Given the description of an element on the screen output the (x, y) to click on. 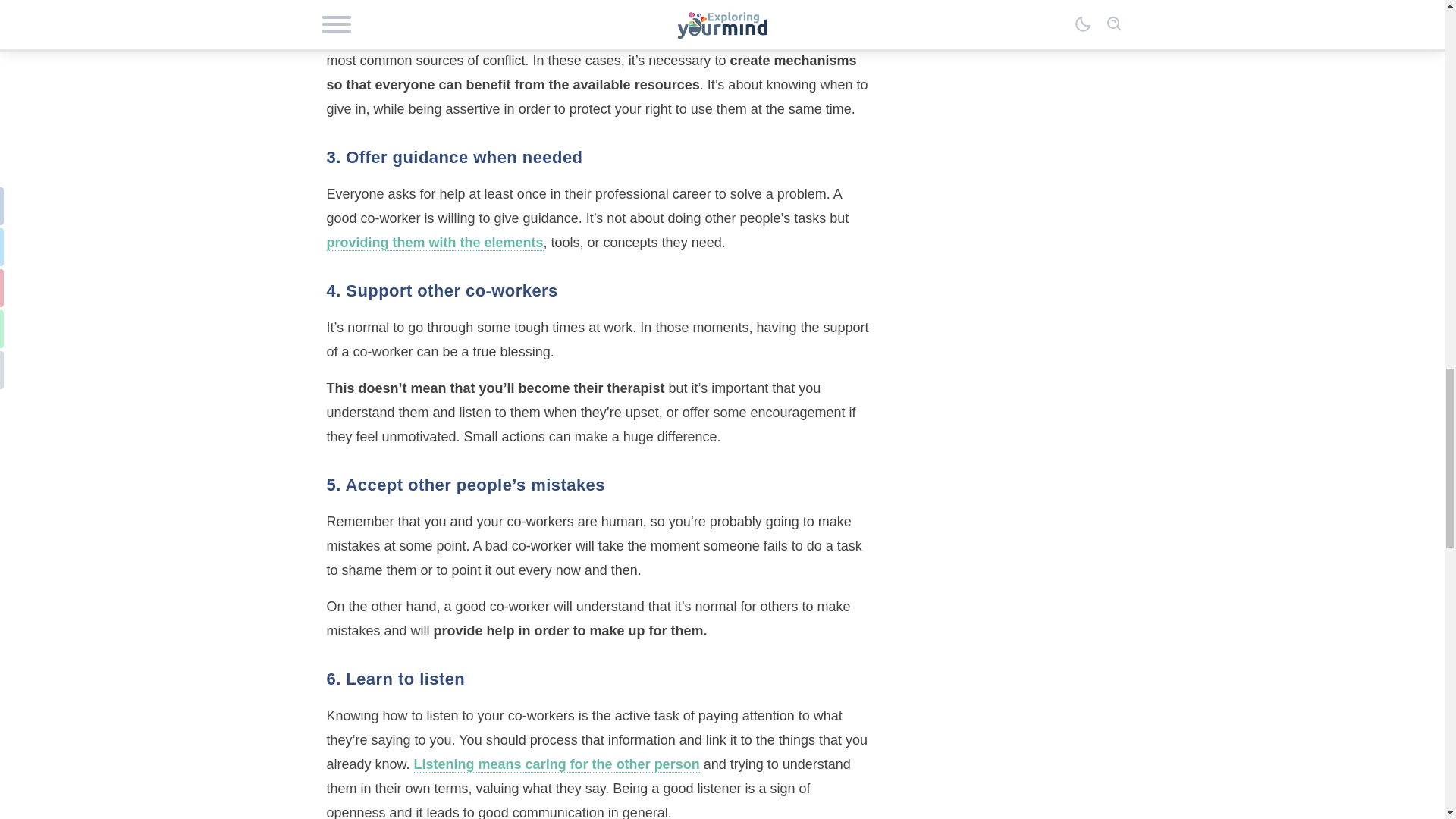
Listening means caring for the other person (556, 764)
providing them with the elements (434, 242)
